Given the description of an element on the screen output the (x, y) to click on. 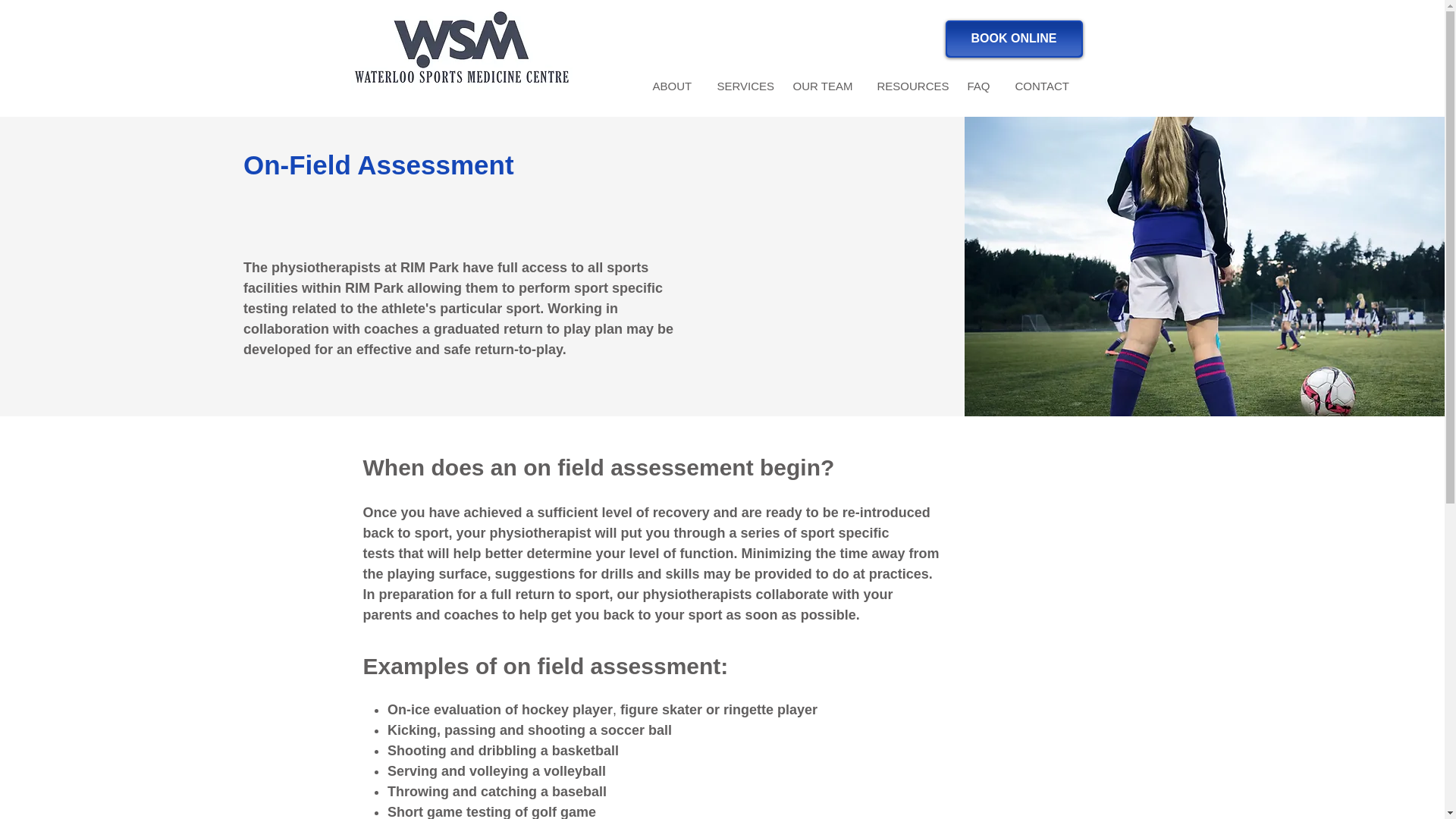
BOOK ONLINE (1012, 38)
CONTACT (1042, 86)
FAQ (979, 86)
